Given the description of an element on the screen output the (x, y) to click on. 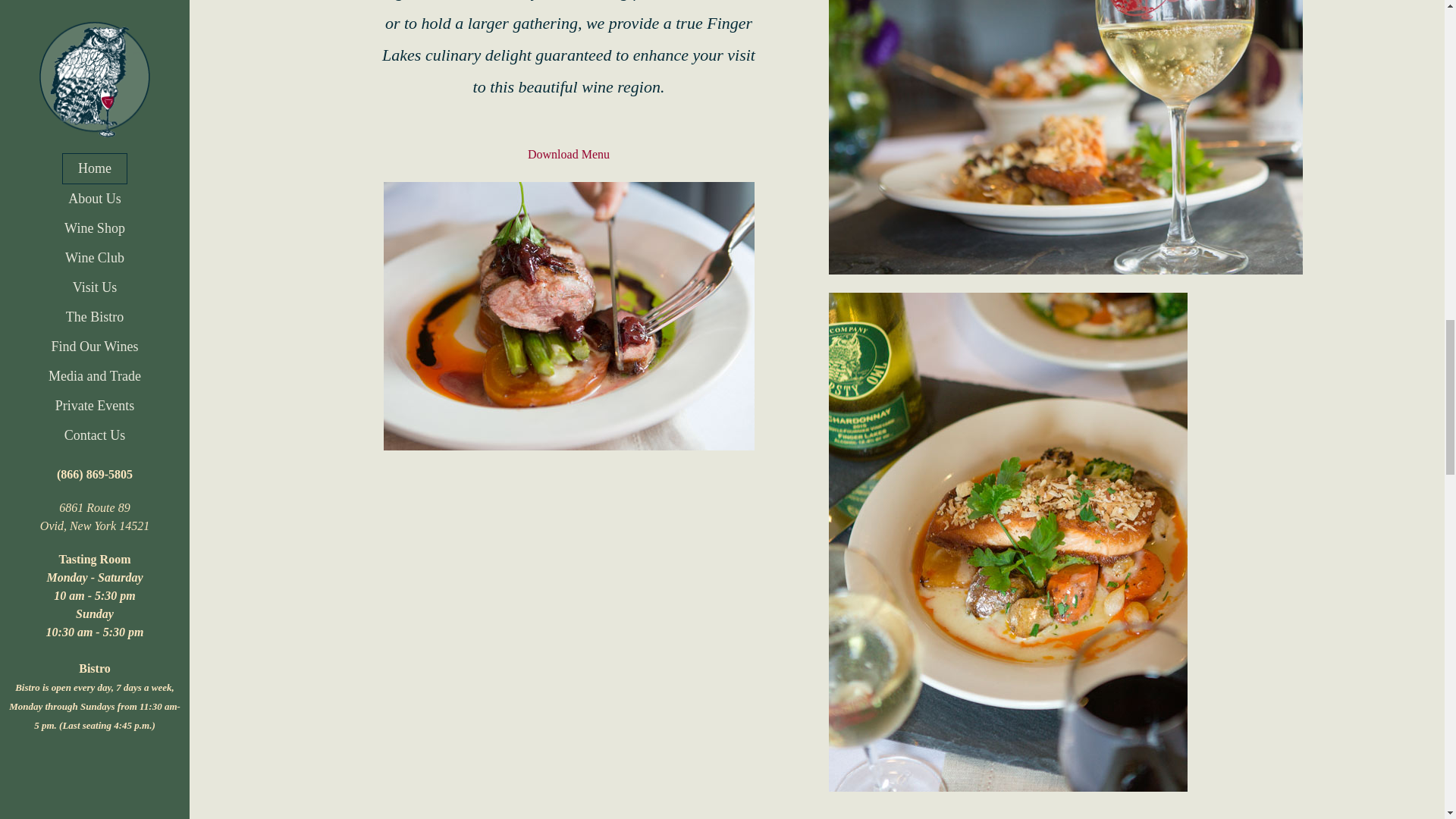
Download Menu (568, 154)
